Given the description of an element on the screen output the (x, y) to click on. 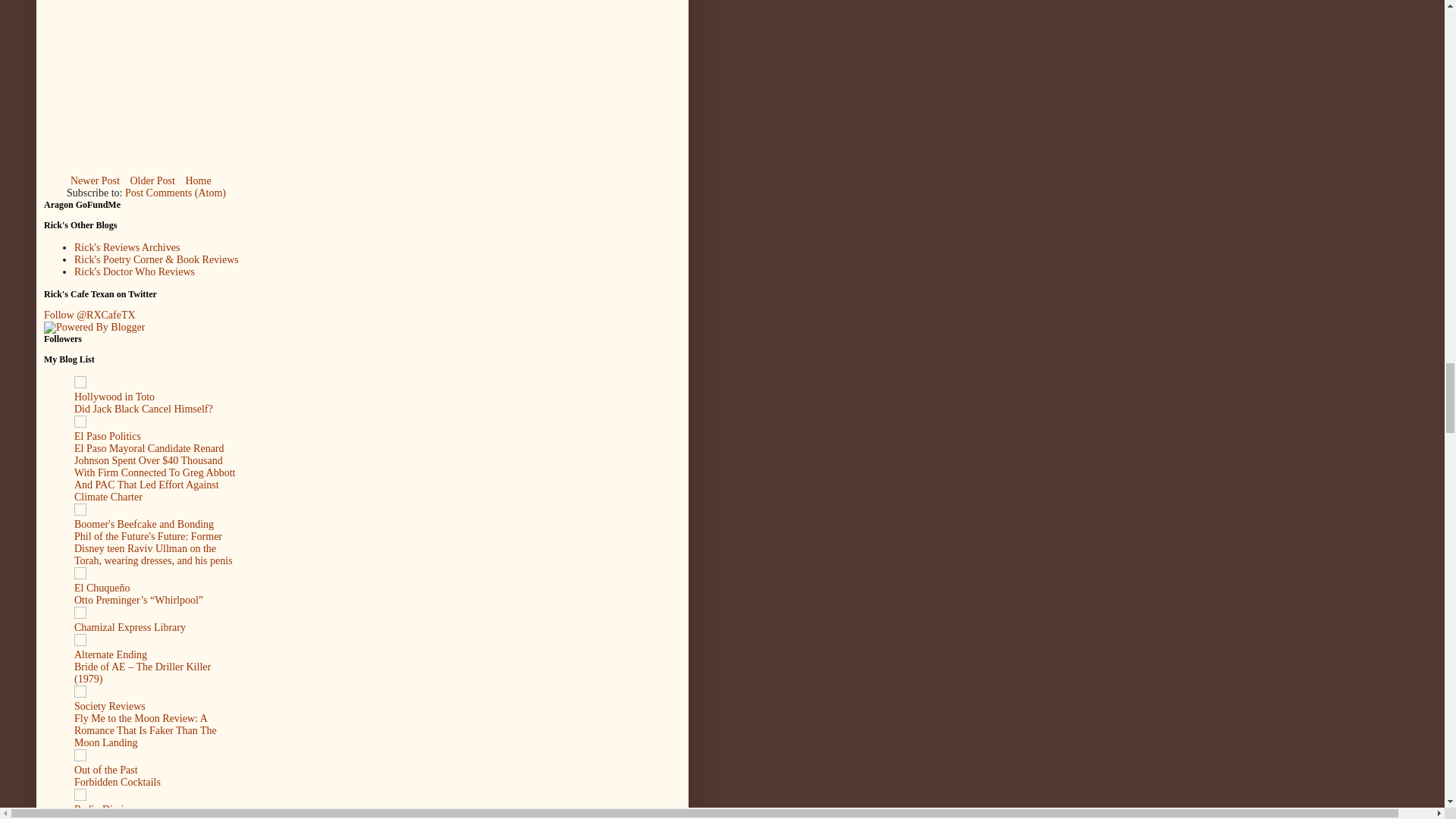
Boomer's Beefcake and Bonding (144, 523)
Older Post (152, 180)
Rick's Reviews Archives (126, 247)
Hollywood in Toto (114, 396)
El Paso Politics (107, 436)
Did Jack Black Cancel Himself? (143, 408)
Home (197, 180)
Rick's Doctor Who Reviews (134, 271)
Newer Post (94, 180)
Older Post (152, 180)
Newer Post (94, 180)
